Given the description of an element on the screen output the (x, y) to click on. 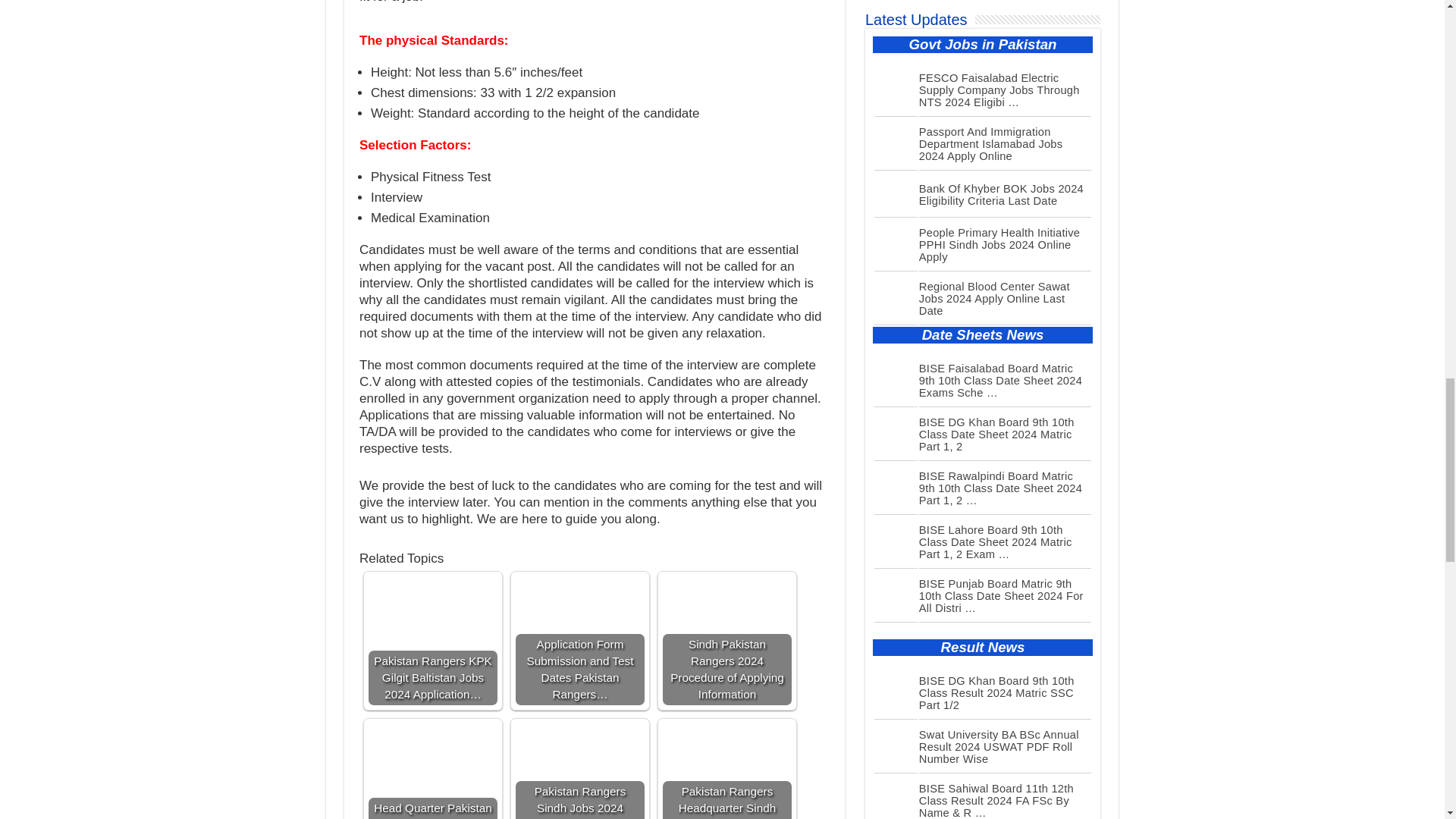
Head Quarter Pakistan Rangers Sindh Jobs 2024 (432, 771)
Head Quarter Pakistan Rangers Sindh Jobs 2024 (432, 751)
